Given the description of an element on the screen output the (x, y) to click on. 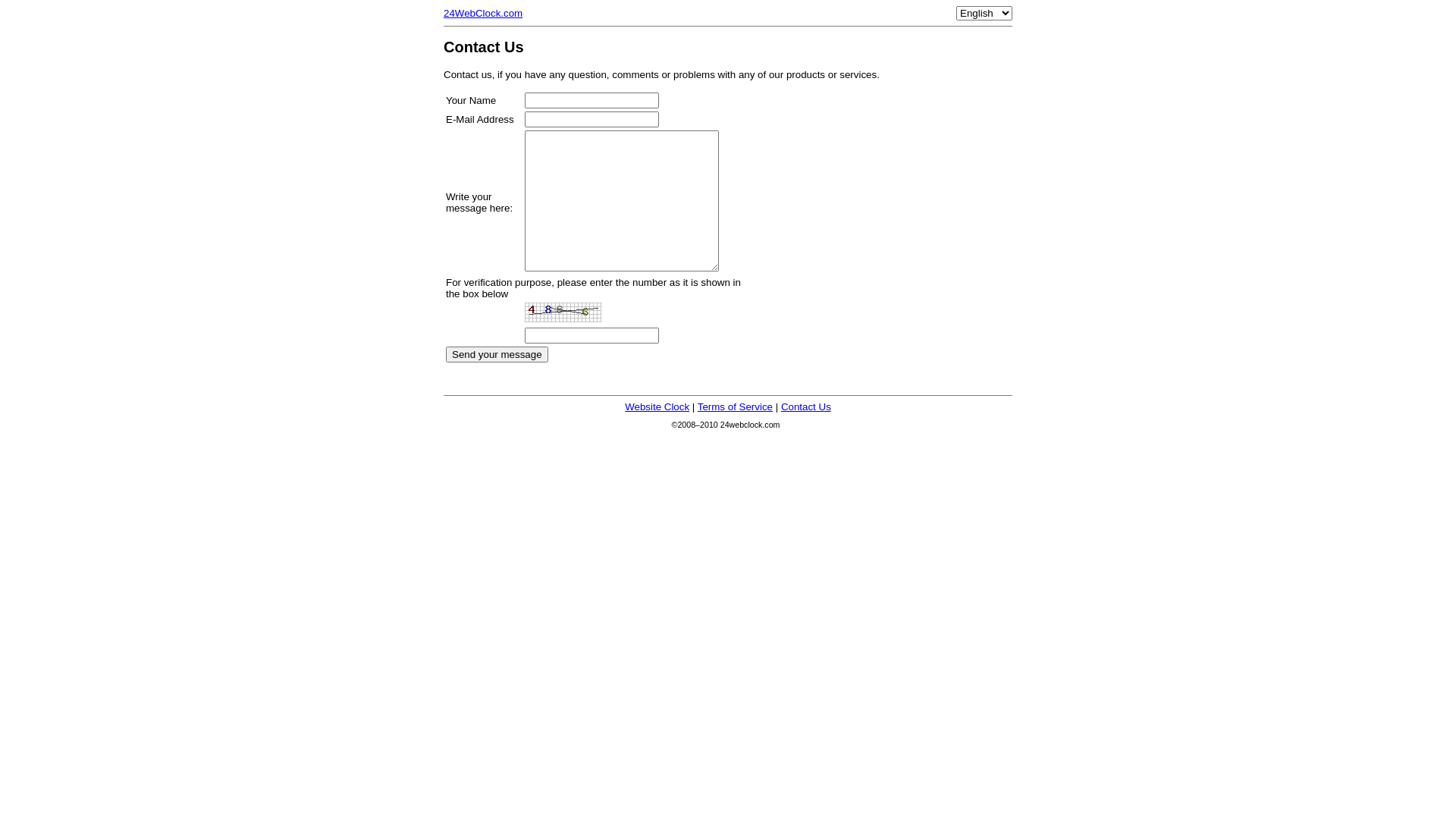
Contact Us Element type: text (806, 406)
Send your message Element type: text (496, 354)
24WebClock.com Element type: text (482, 12)
Terms of Service Element type: text (734, 406)
Website Clock Element type: text (656, 406)
